Given the description of an element on the screen output the (x, y) to click on. 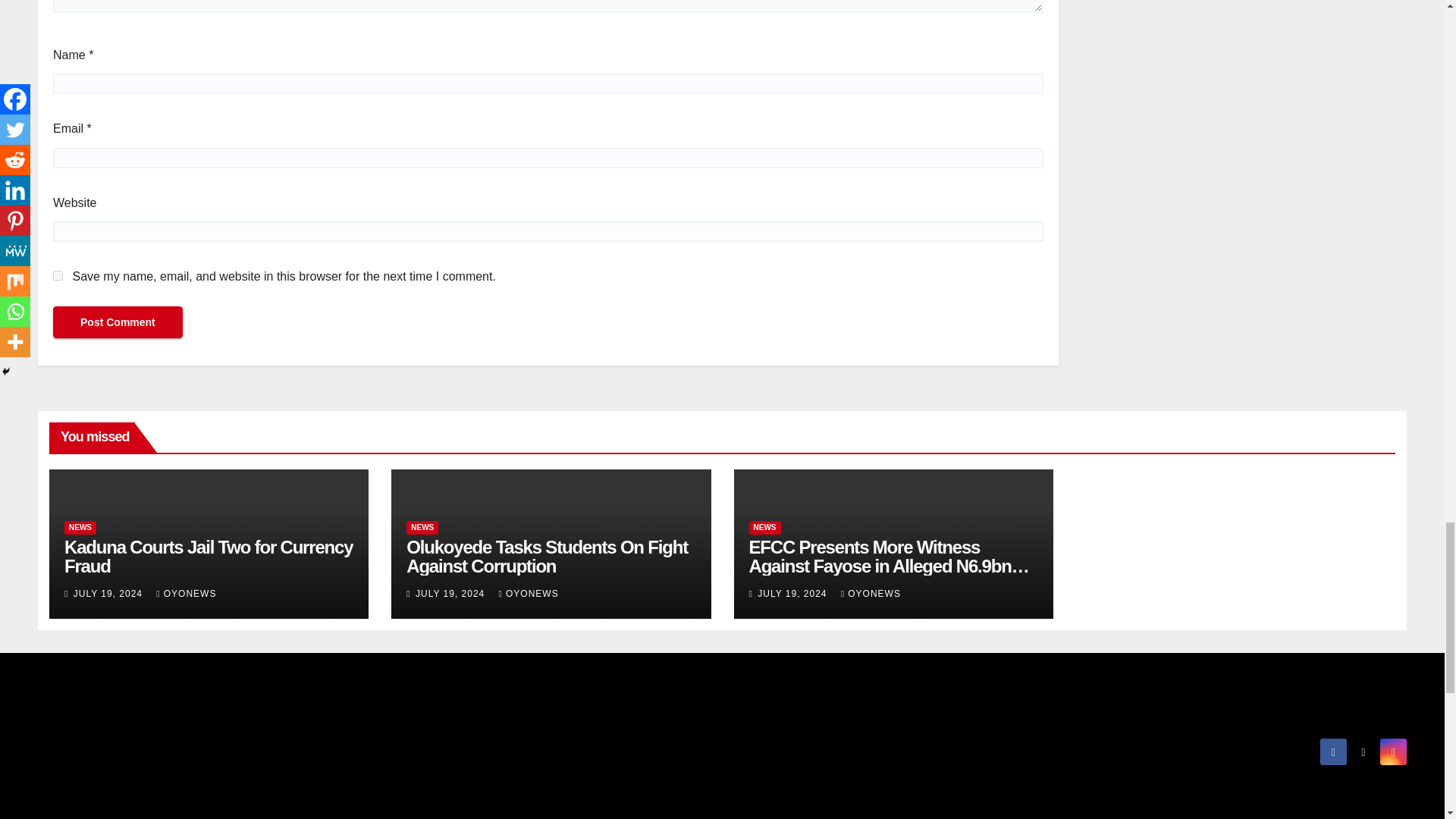
yes (57, 275)
Post Comment (117, 322)
